Given the description of an element on the screen output the (x, y) to click on. 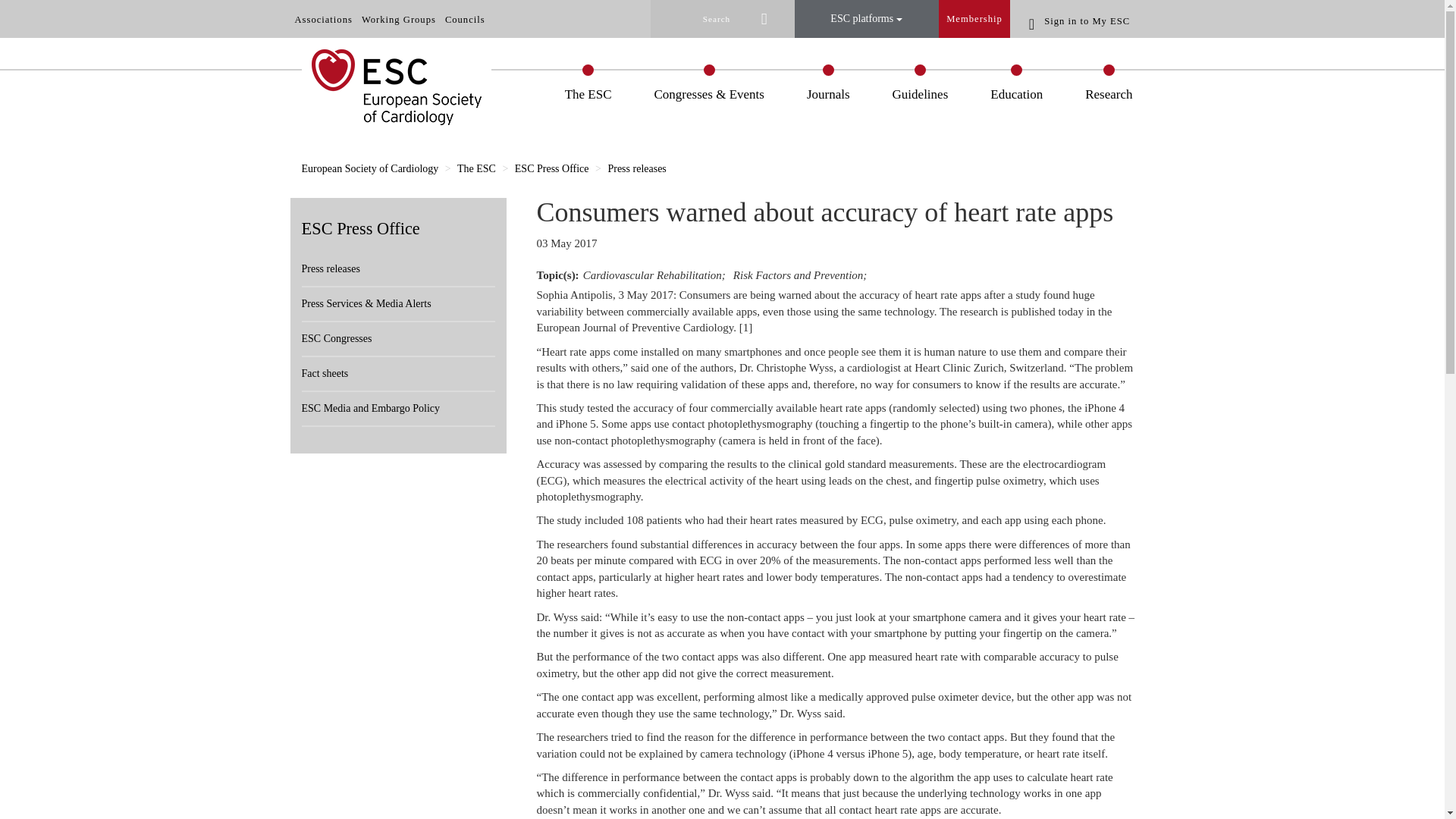
ESC platforms  (866, 18)
Sign in to My ESC (1082, 20)
Associations (322, 19)
Councils (465, 19)
Membership (974, 18)
Working Groups (398, 19)
